Given the description of an element on the screen output the (x, y) to click on. 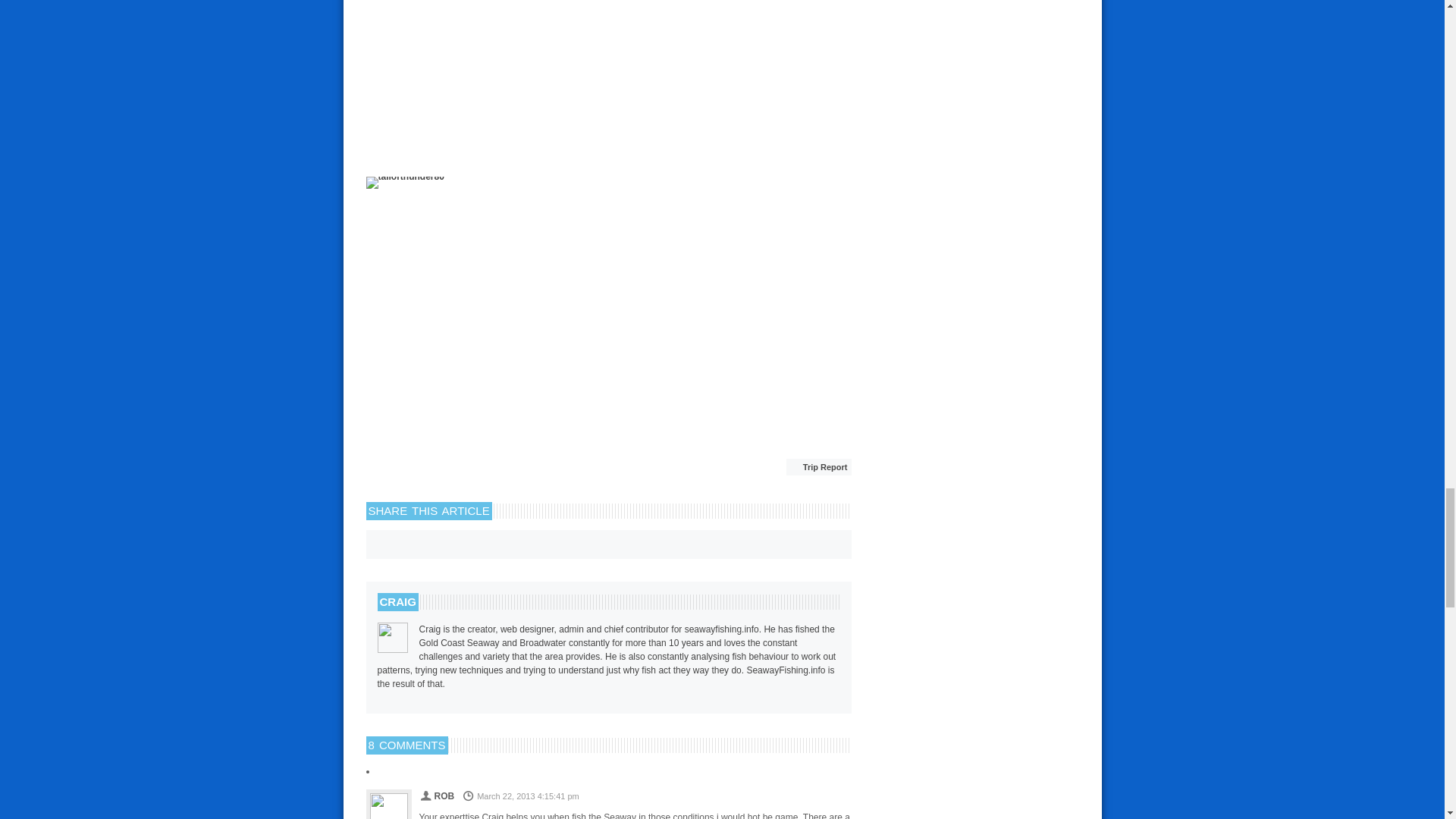
CRAIG (396, 600)
Posts by Craig (396, 600)
Trip Report (818, 466)
